Given the description of an element on the screen output the (x, y) to click on. 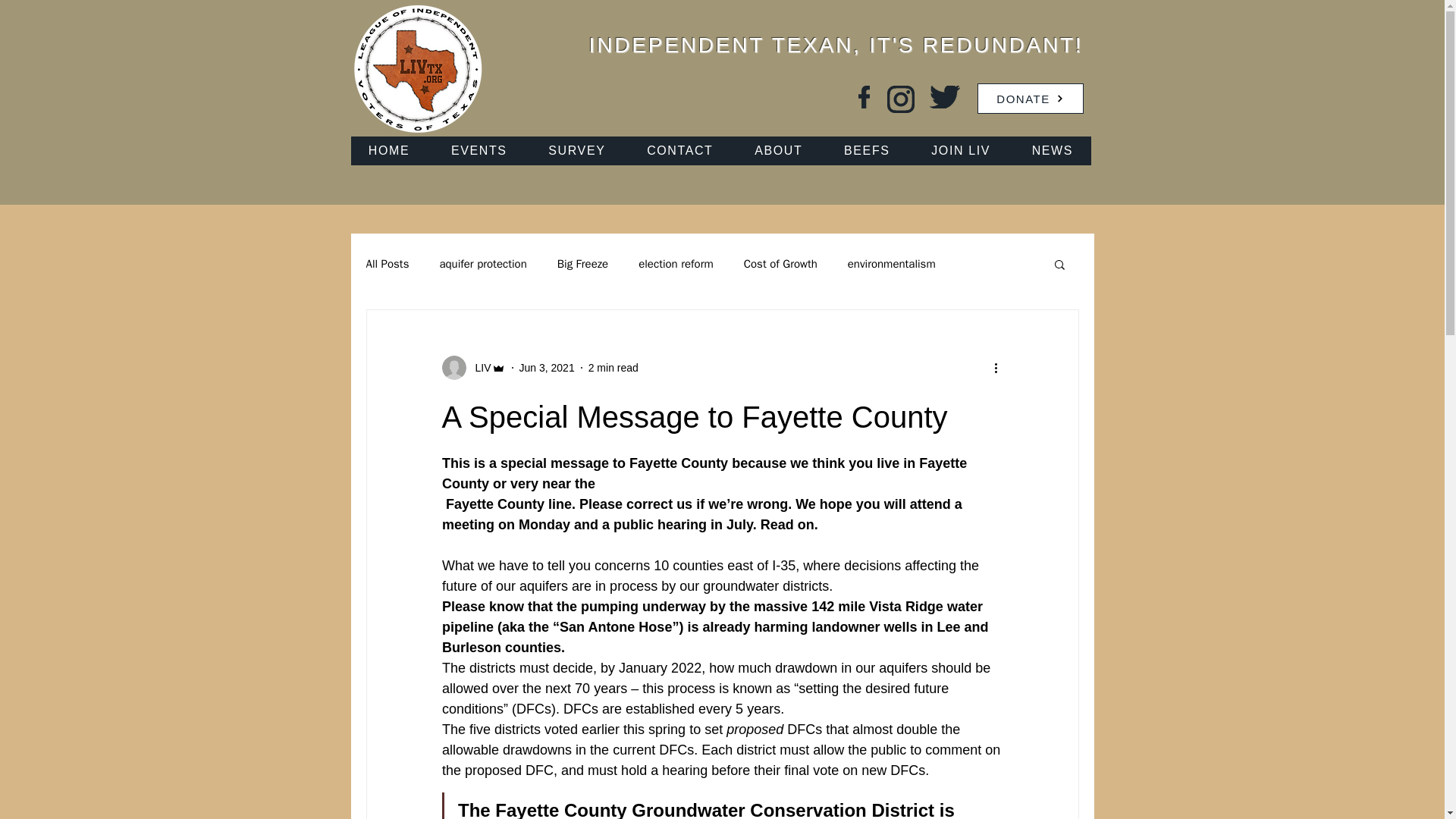
twitter.png (944, 96)
LIV (477, 367)
BEEFS (867, 150)
Big Freeze (582, 263)
2 min read (613, 367)
HOME (388, 150)
LIV logo copy.png (416, 70)
JOIN LIV (960, 150)
ABOUT (778, 150)
instagram.png (900, 99)
